Given the description of an element on the screen output the (x, y) to click on. 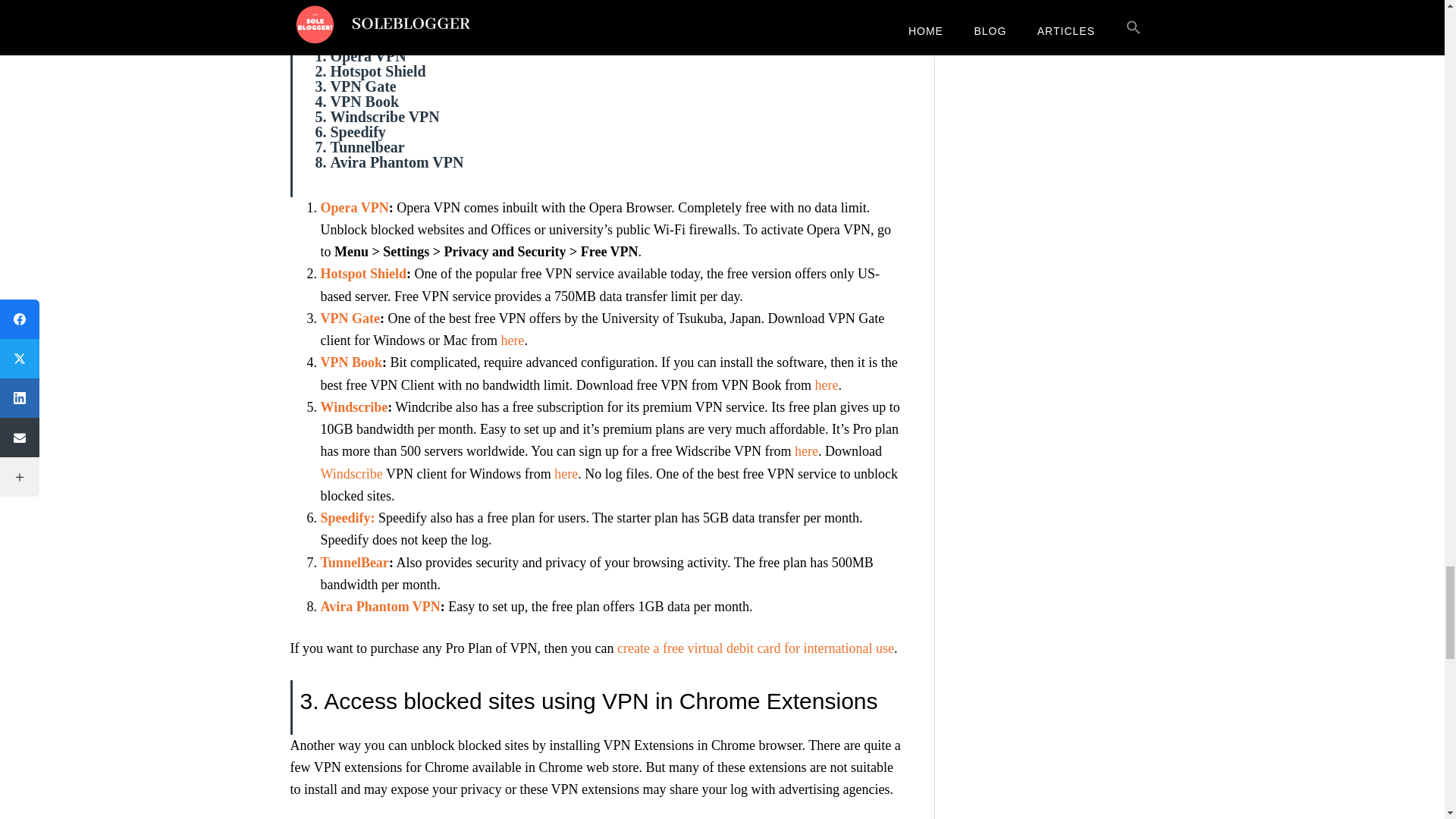
Windscribe (353, 406)
TunnelBear (354, 562)
Windscribe (350, 473)
Windscribe (806, 450)
